Given the description of an element on the screen output the (x, y) to click on. 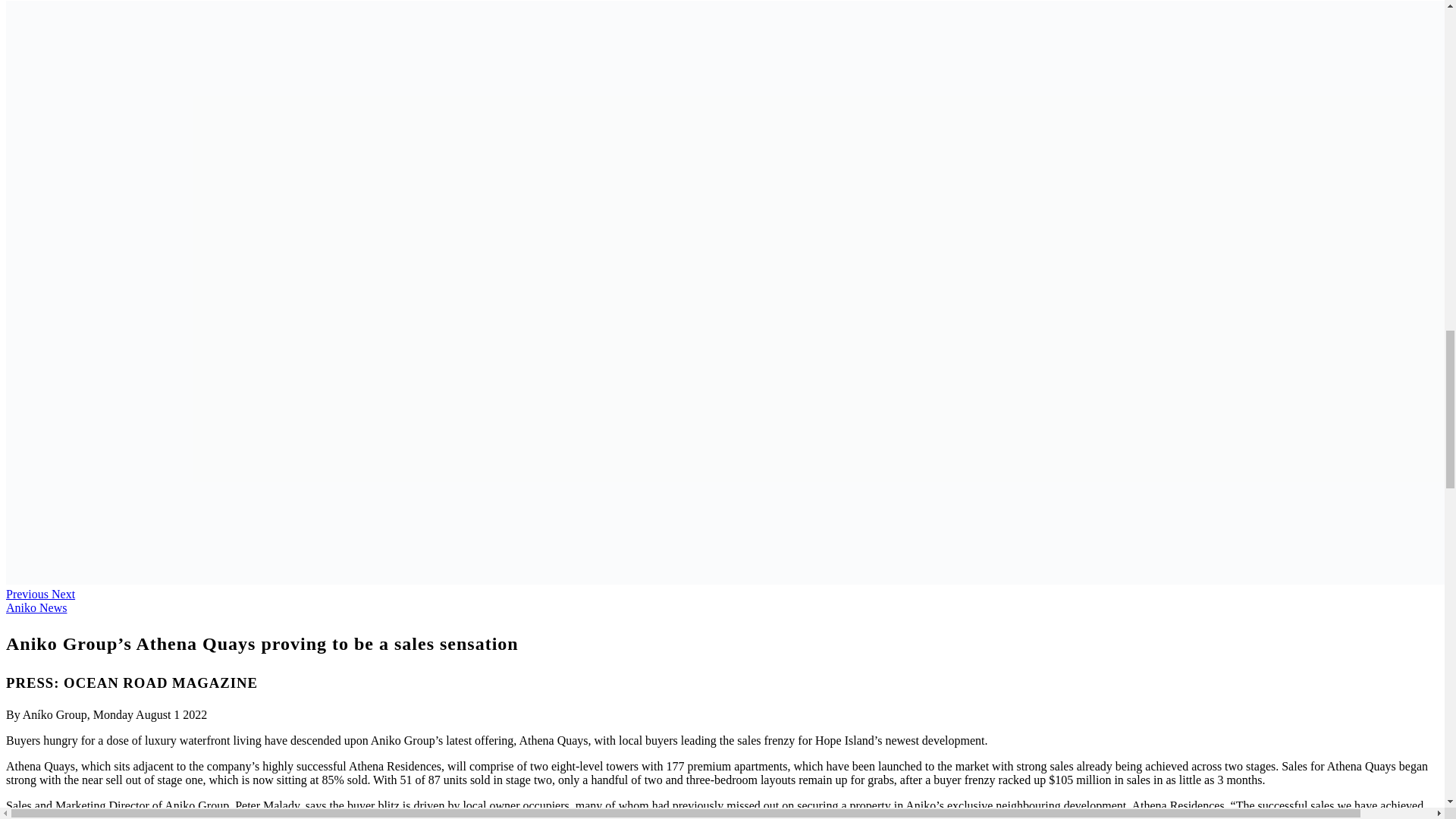
Previous (27, 594)
Aniko News (35, 607)
Next (62, 594)
